Given the description of an element on the screen output the (x, y) to click on. 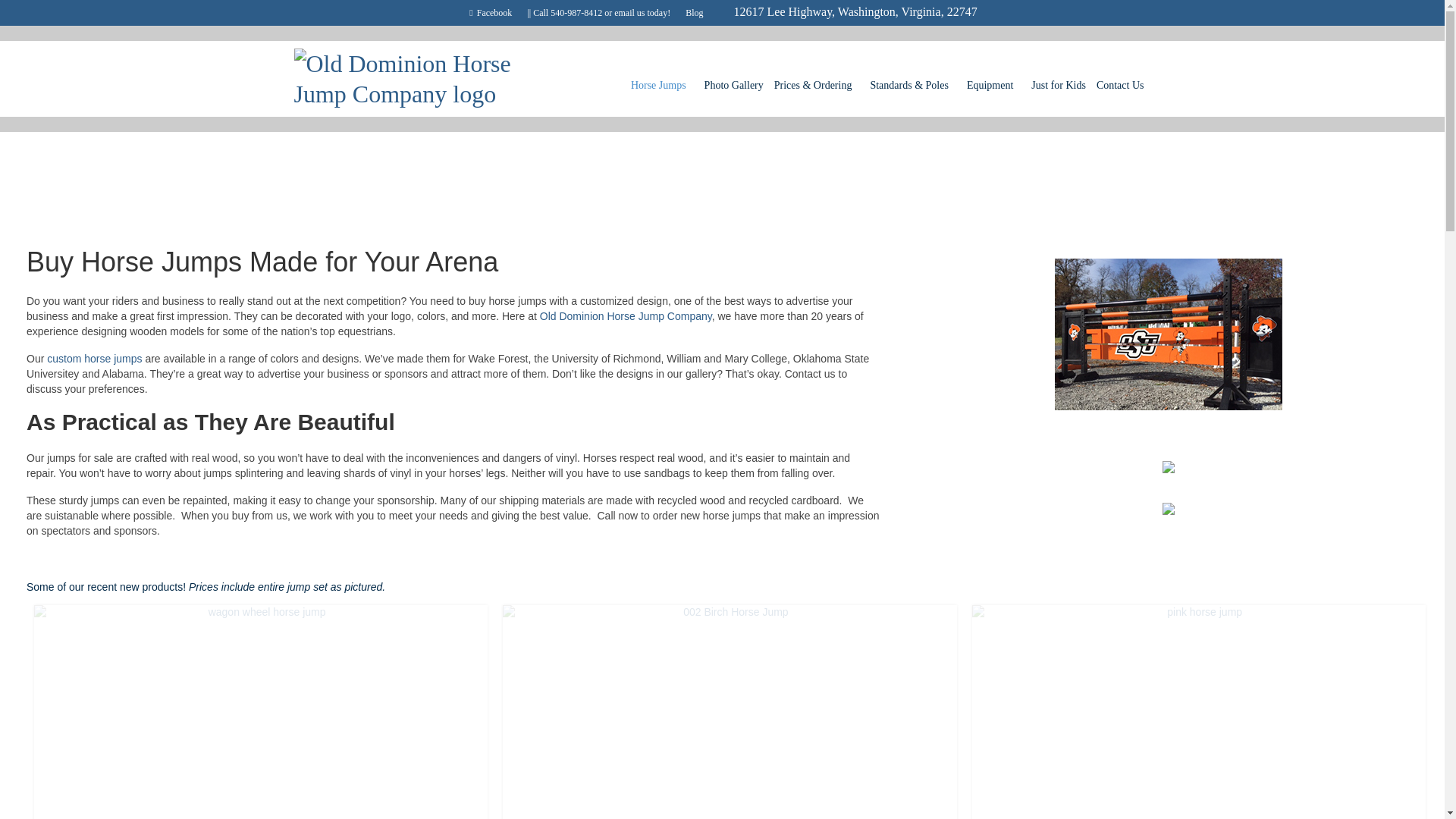
Contact Us (1125, 85)
Horse Jumps (667, 85)
Facebook (490, 12)
Photo Gallery (739, 85)
Old Dominion Horse Jump Company (422, 78)
Blog (694, 12)
Just for Kids (1063, 85)
Equipment (998, 85)
